Given the description of an element on the screen output the (x, y) to click on. 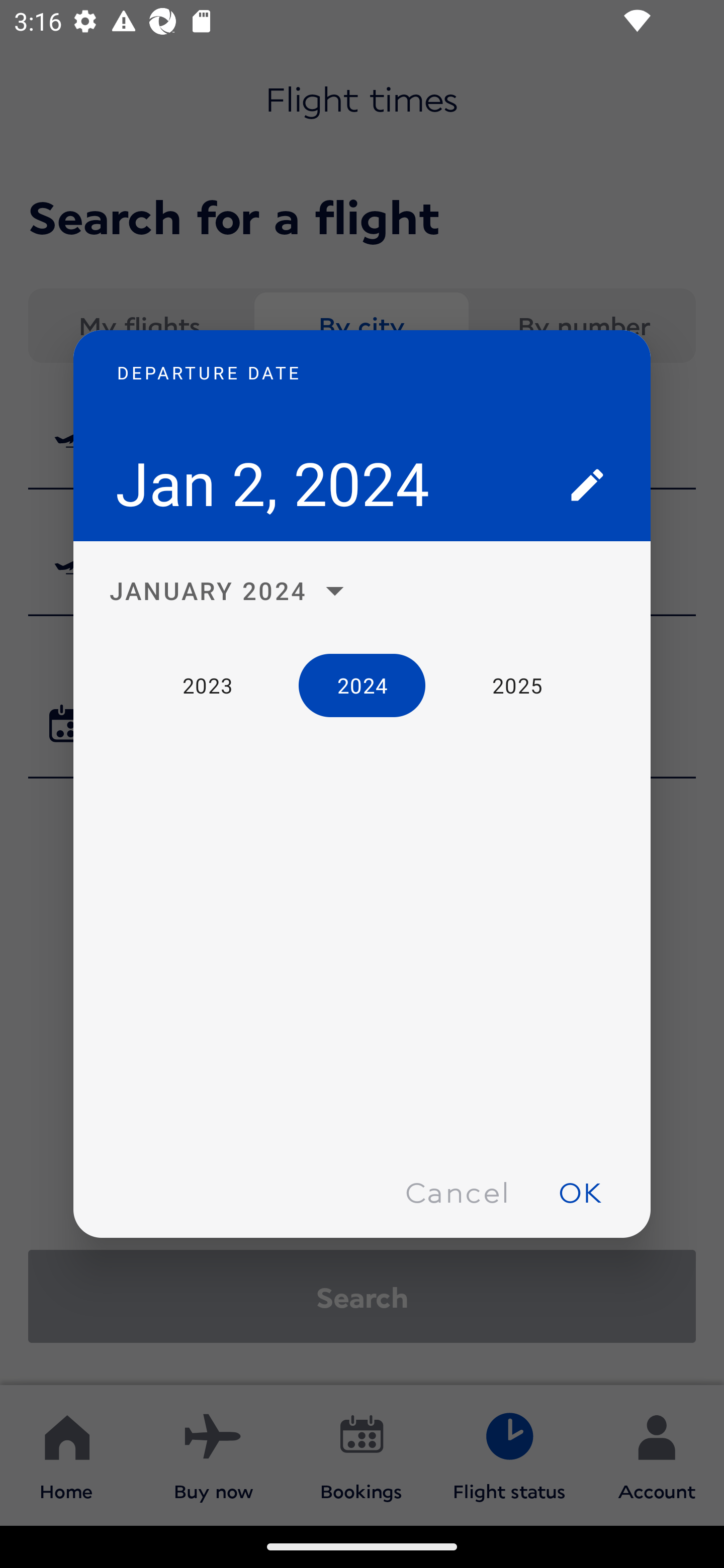
Switch to text input mode (587, 484)
JANUARY 2024 (231, 590)
2023 Navigate to year 2023 (206, 684)
2024 Navigate to current year 2024 (361, 684)
2025 Navigate to year 2025 (516, 684)
Cancel (456, 1191)
OK null, OK (580, 1191)
